Given the description of an element on the screen output the (x, y) to click on. 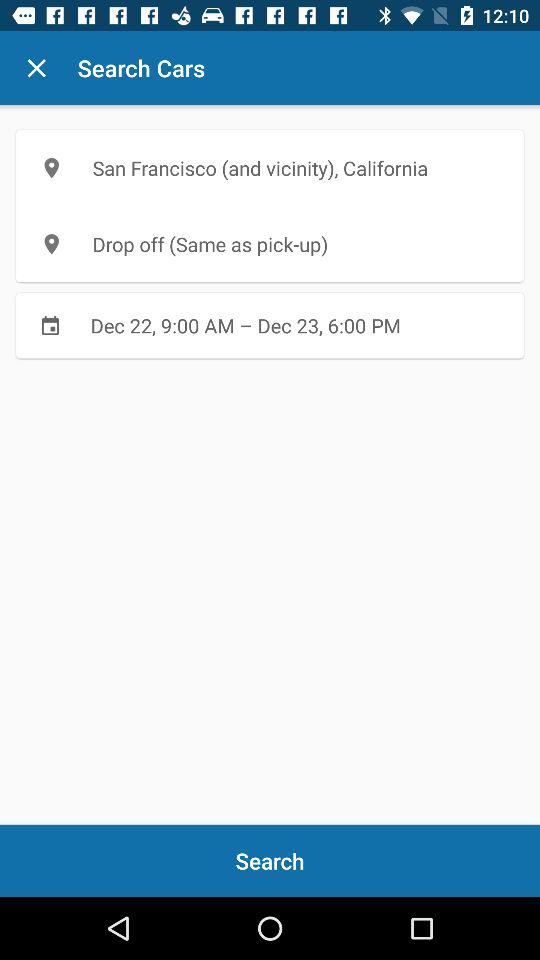
press item next to search cars icon (36, 68)
